Given the description of an element on the screen output the (x, y) to click on. 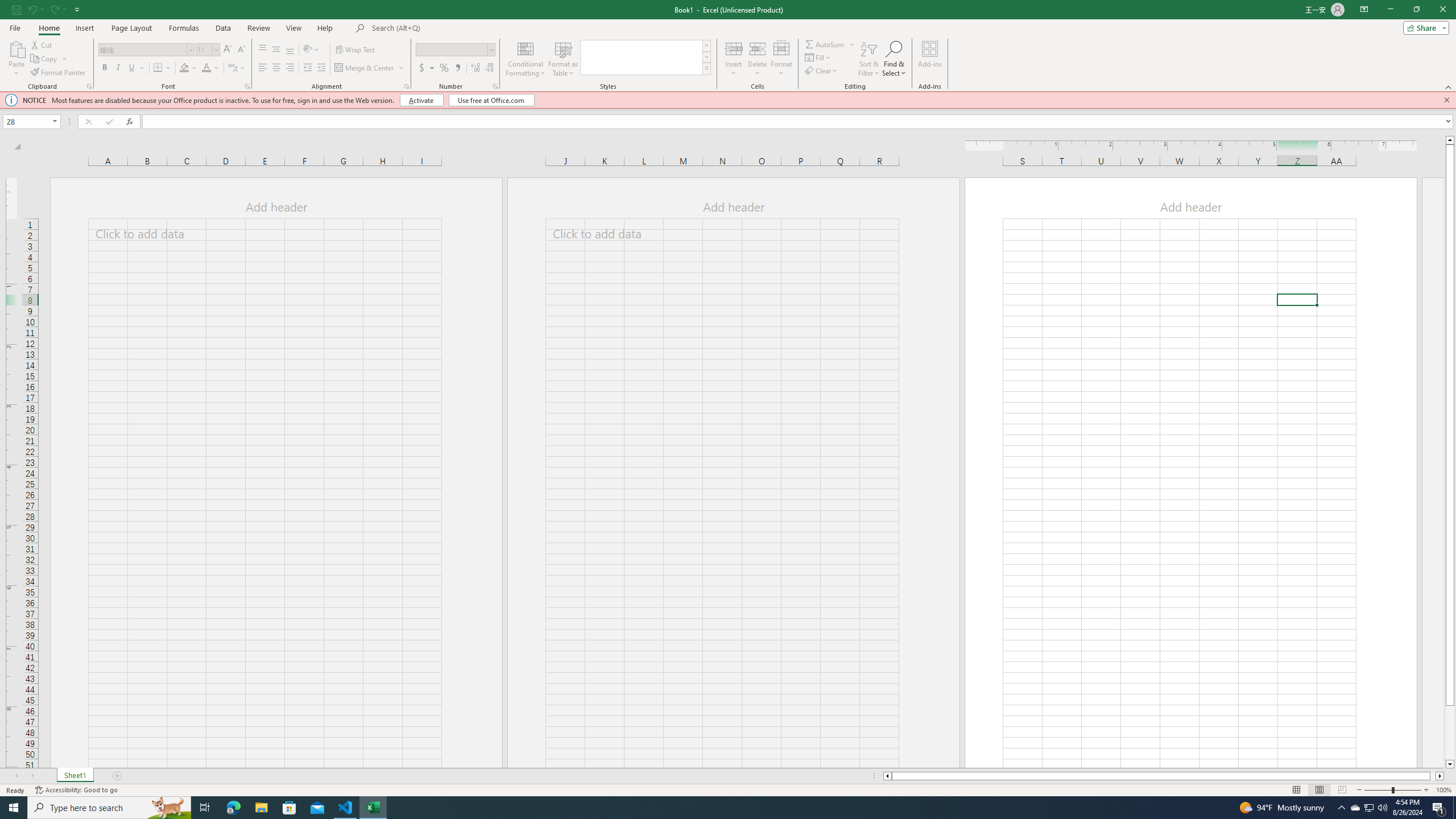
Close this message (1446, 99)
Format Cell Number (494, 85)
Sort & Filter (868, 58)
Cut (42, 44)
